Given the description of an element on the screen output the (x, y) to click on. 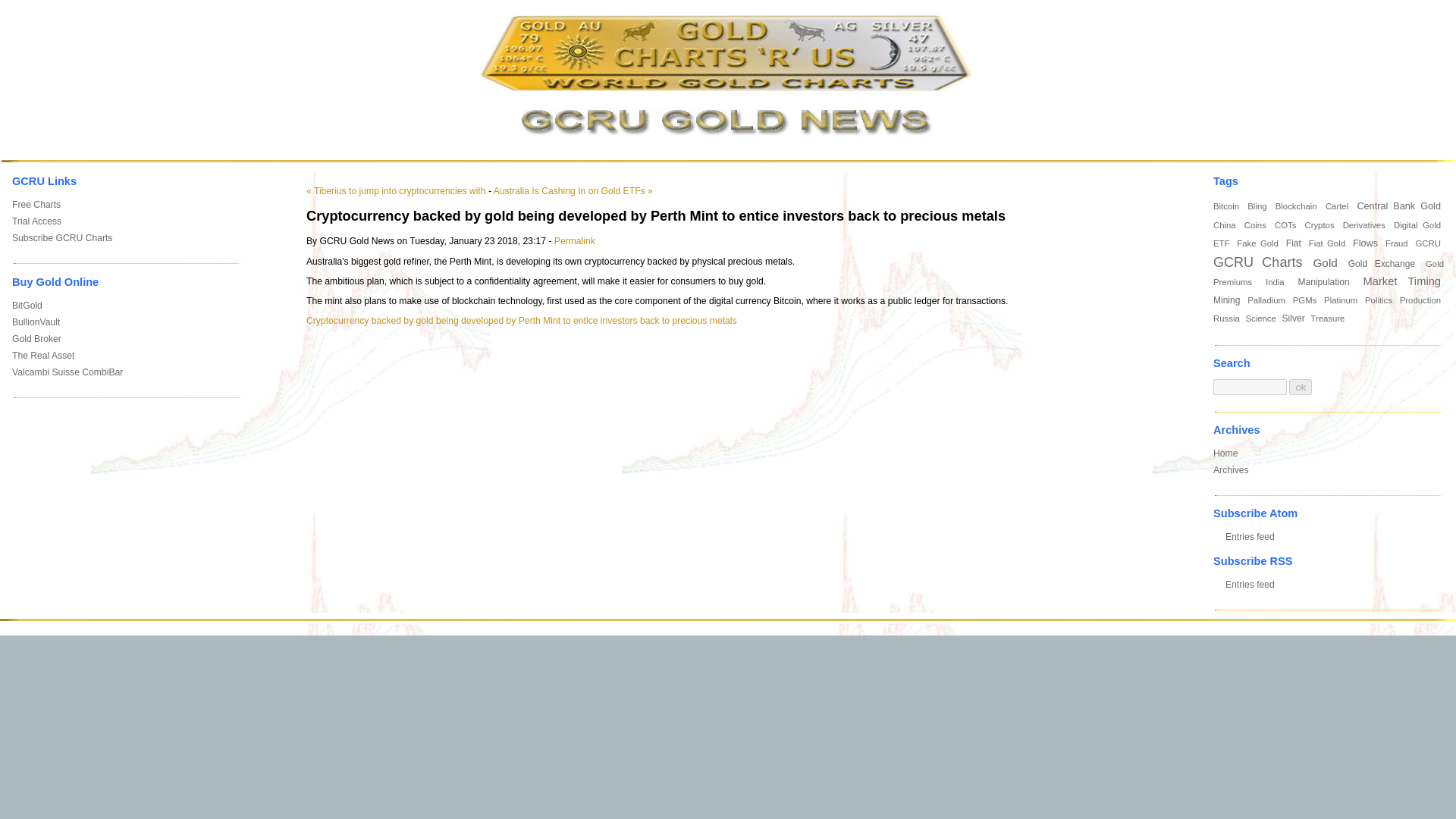
GCRU (1429, 243)
Australia Is Cashing In on Gold ETFs (572, 190)
Trial Access (36, 221)
Bitcoin (1226, 205)
Cryptos (1320, 225)
ETF (1221, 243)
The Real Asset (42, 355)
Free Charts (36, 204)
Gold Broker (36, 338)
Bling (1258, 205)
